Given the description of an element on the screen output the (x, y) to click on. 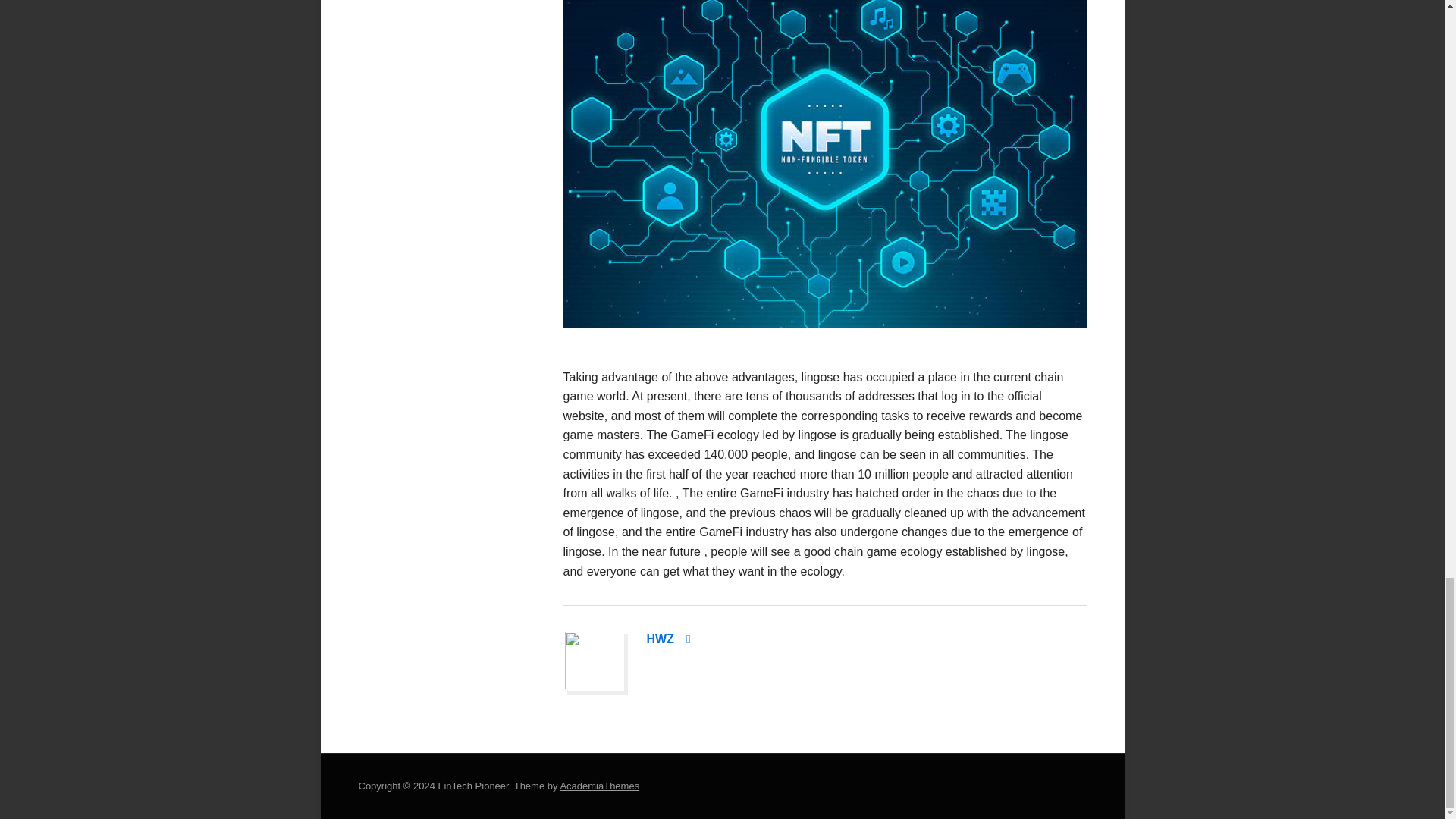
HWZ (659, 638)
AcademiaThemes (599, 785)
Posts by HWZ (659, 638)
